Given the description of an element on the screen output the (x, y) to click on. 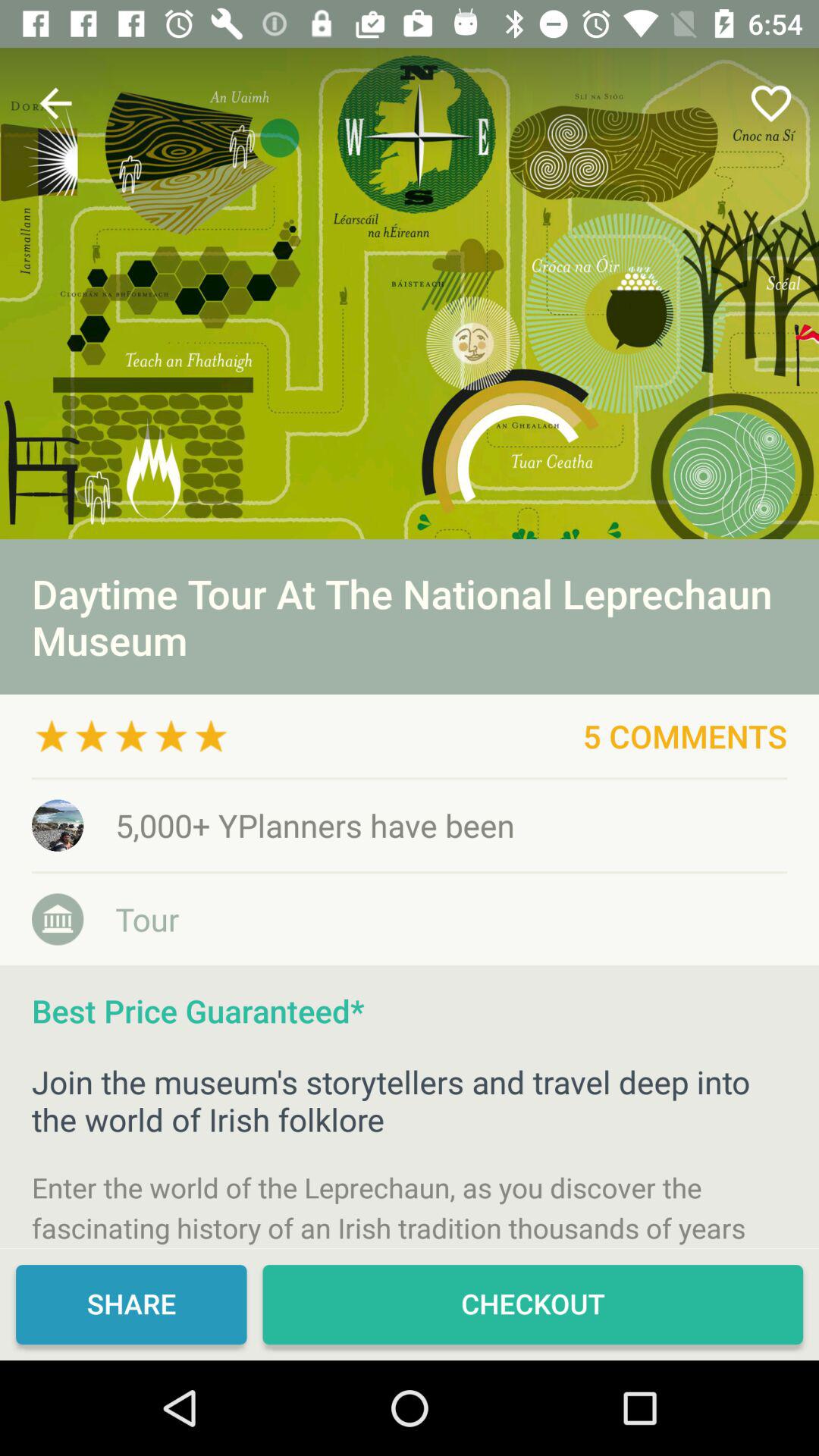
profile image (409, 293)
